Given the description of an element on the screen output the (x, y) to click on. 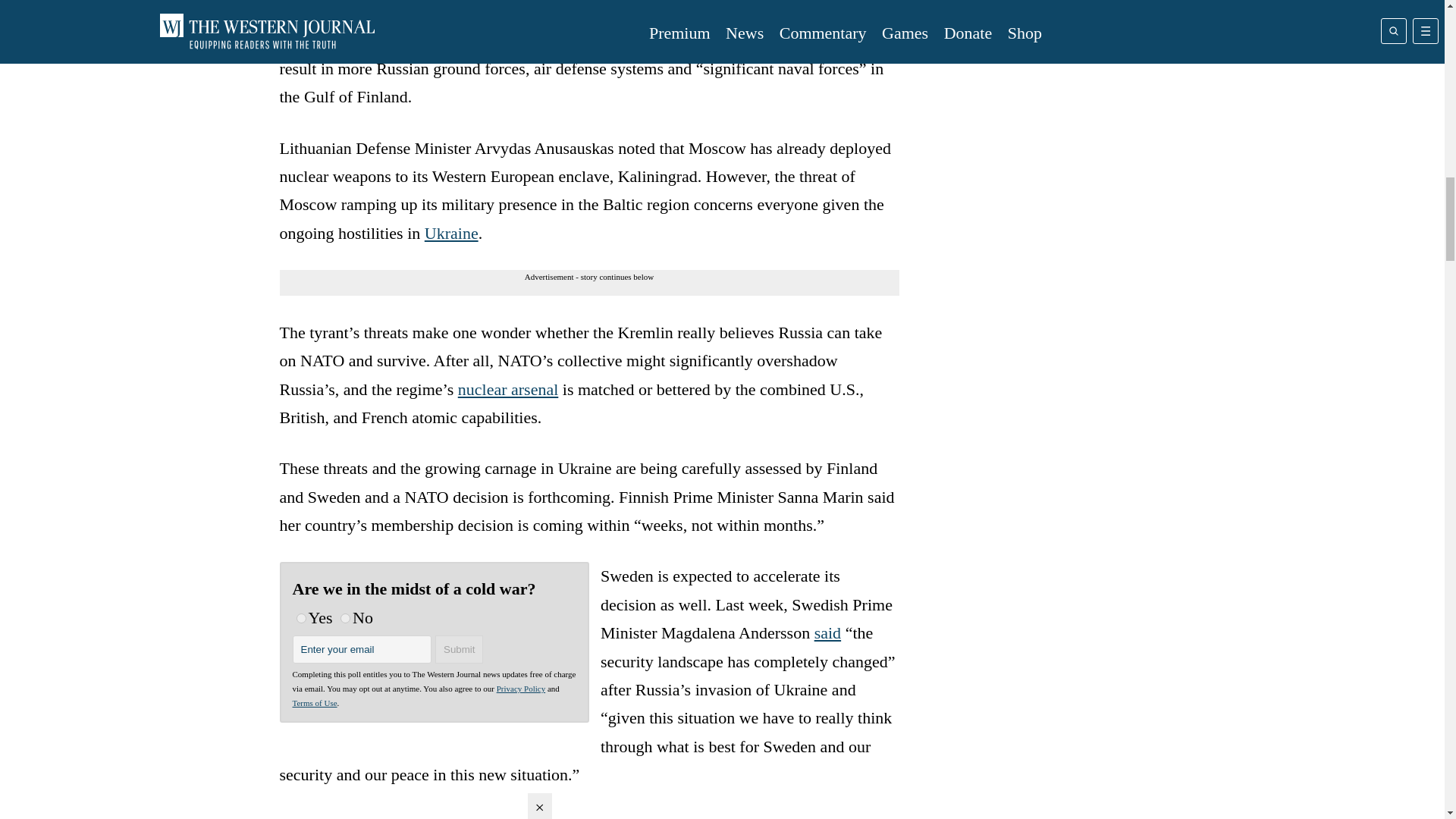
no (345, 618)
Submit (459, 649)
yes (300, 618)
